Given the description of an element on the screen output the (x, y) to click on. 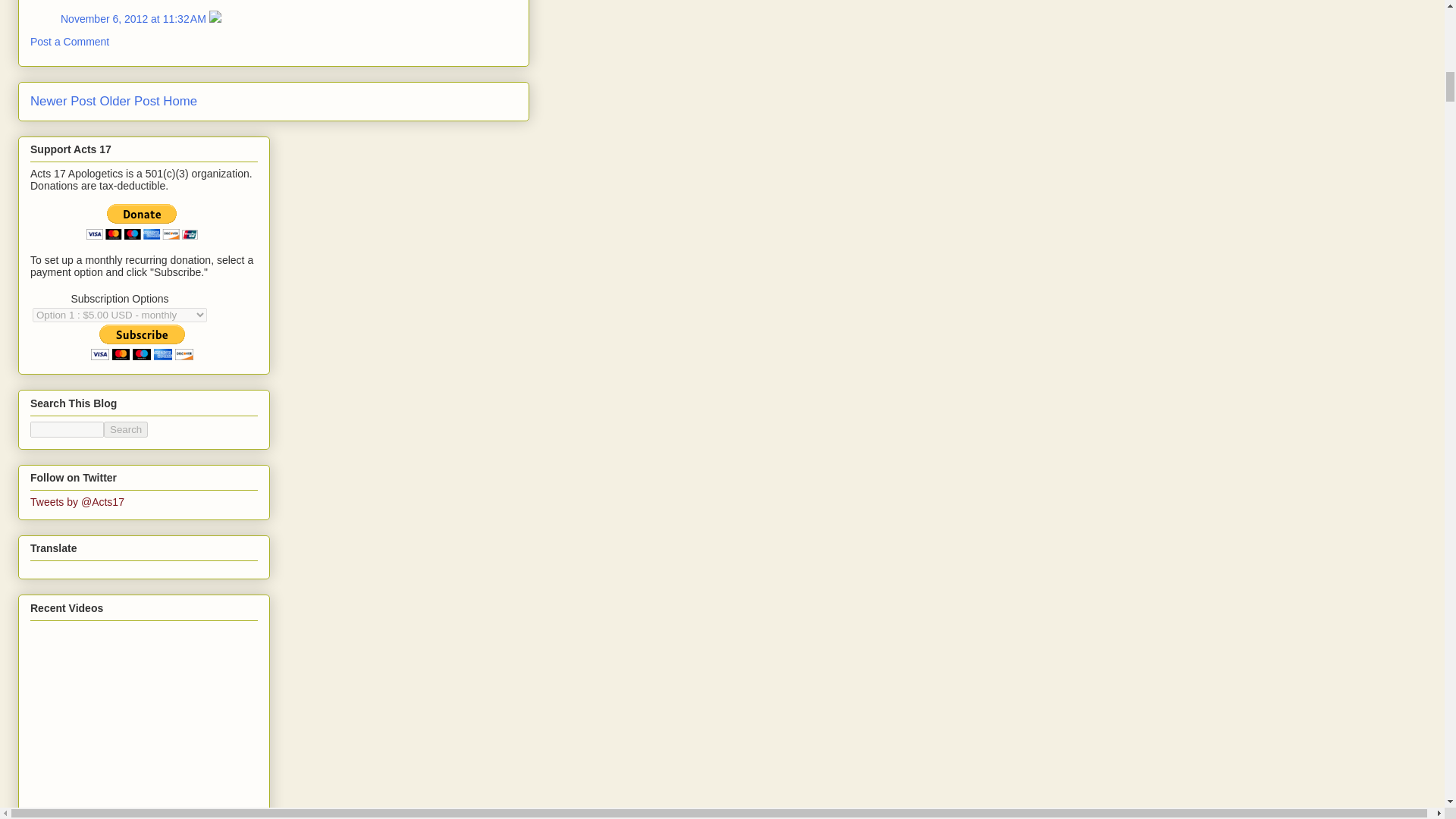
Search (125, 429)
Search (125, 429)
